Given the description of an element on the screen output the (x, y) to click on. 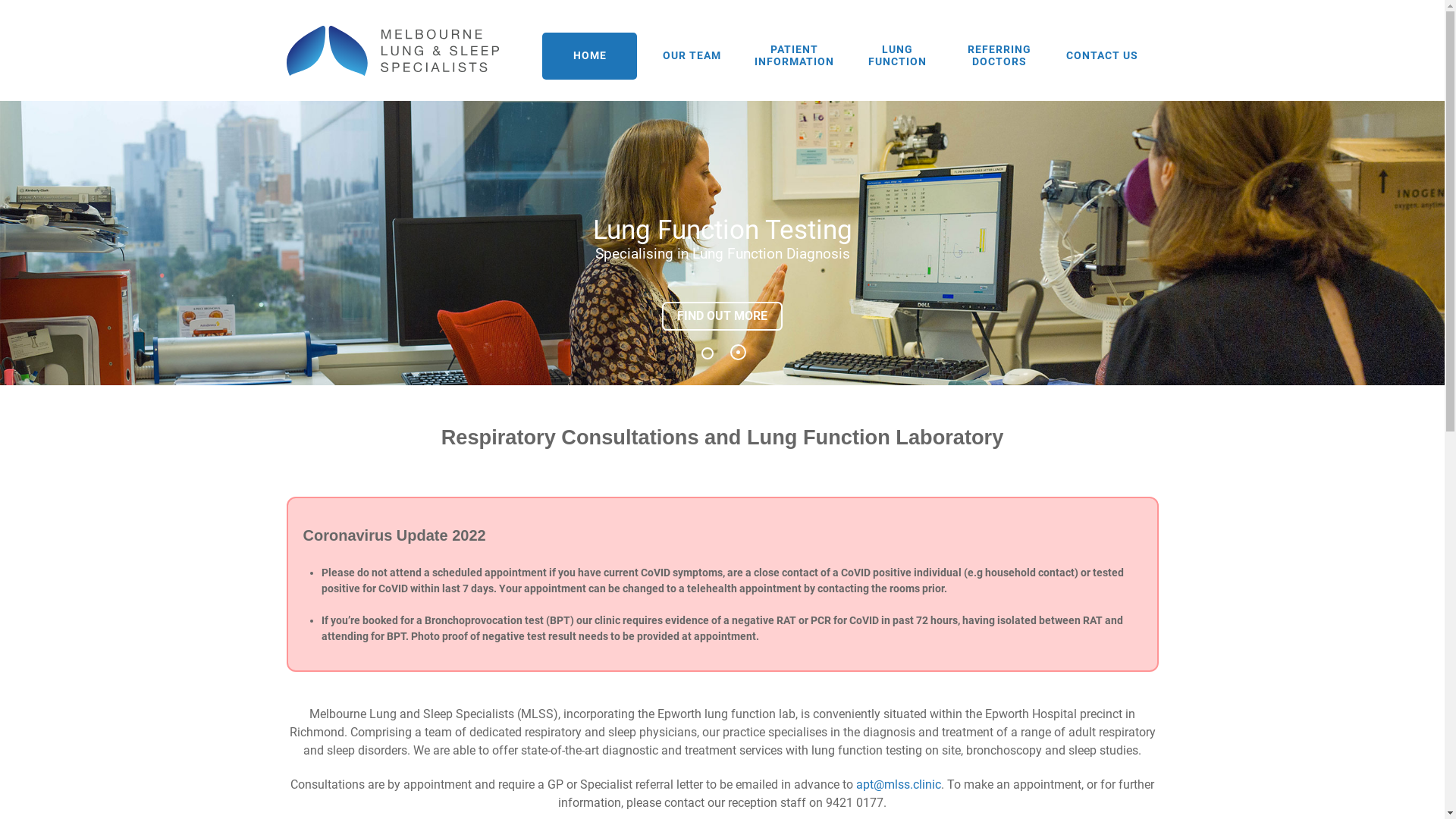
apt@mlss.clinic Element type: text (898, 784)
OUR TEAM Element type: text (691, 55)
REFERRING DOCTORS Element type: text (999, 55)
PATIENT INFORMATION Element type: text (793, 55)
CONTACT US Element type: text (1101, 55)
LUNG FUNCTION Element type: text (897, 55)
2 Element type: text (738, 352)
FIND OUT MORE Element type: text (721, 315)
1 Element type: text (707, 353)
HOME Element type: text (589, 55)
